Given the description of an element on the screen output the (x, y) to click on. 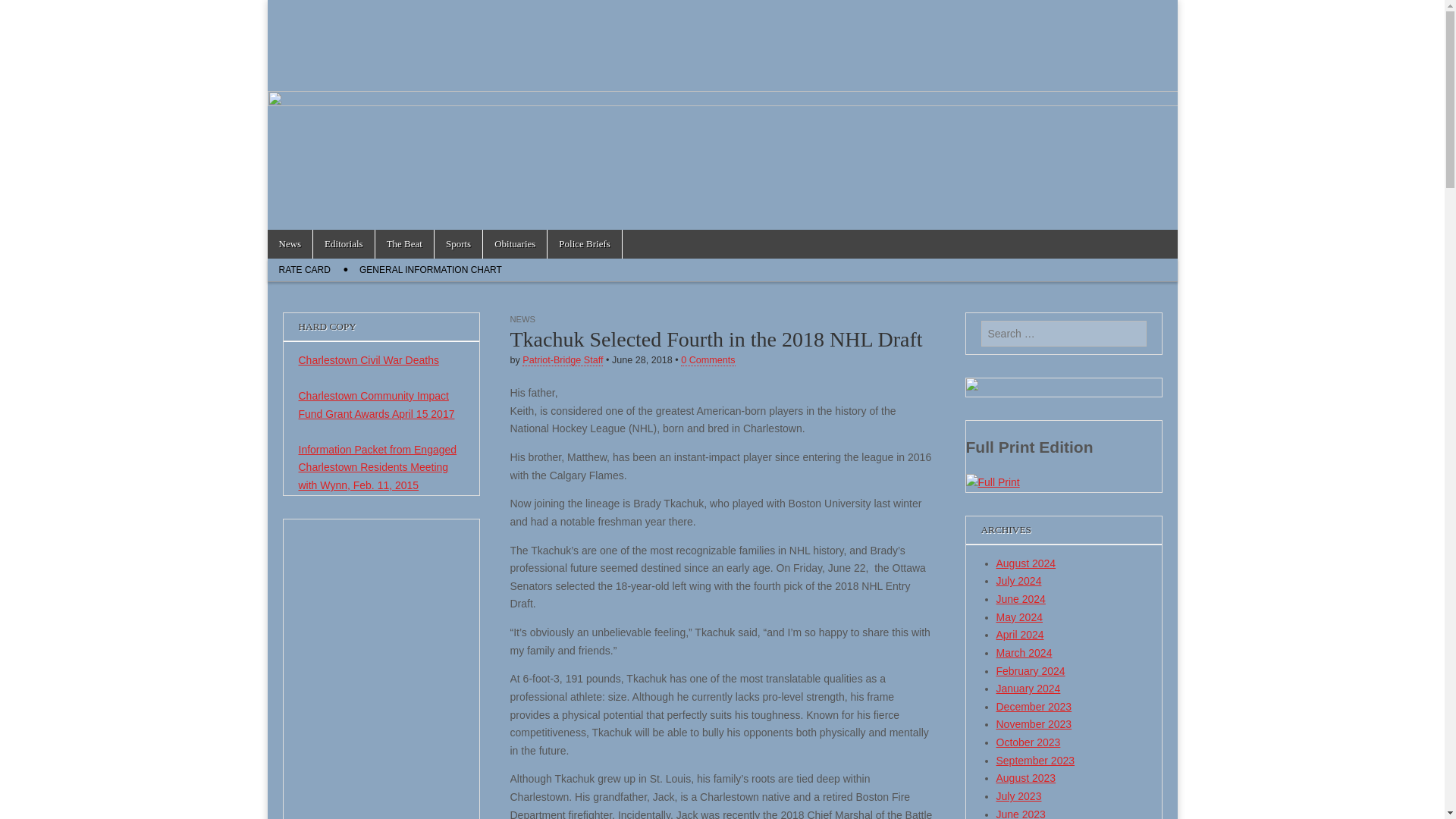
Patriot-Bridge Staff (562, 360)
RATE CARD (303, 269)
Posts by Patriot-Bridge Staff (562, 360)
0 Comments (708, 360)
Search (23, 12)
Charlestown Civil War Deaths (368, 359)
GENERAL INFORMATION CHART (430, 269)
Charlestown Community Impact Fund Grant Awards April 15 2017 (376, 404)
The Beat (404, 244)
